Given the description of an element on the screen output the (x, y) to click on. 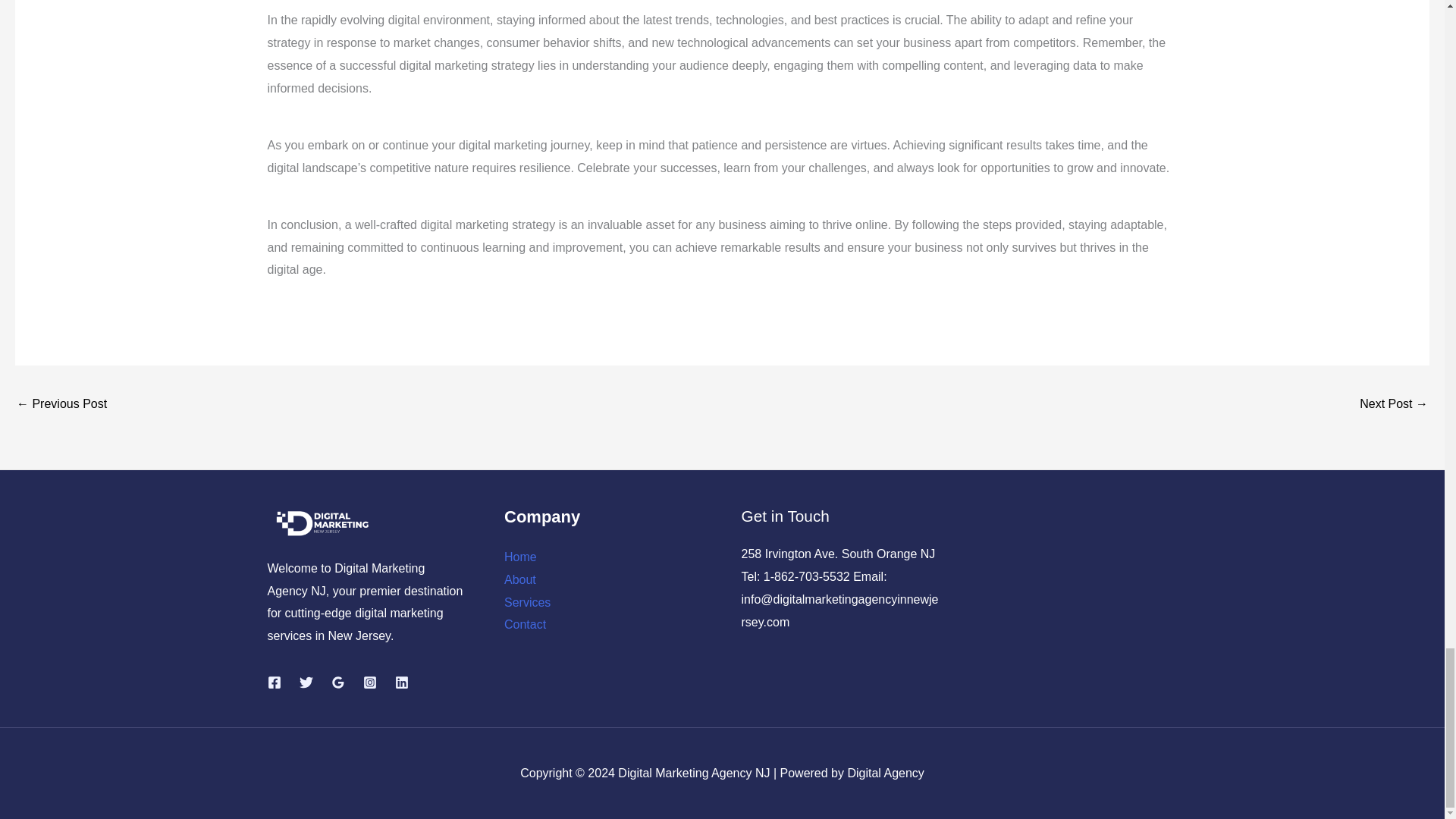
About (519, 579)
Home (520, 556)
Contact (524, 624)
8 Essential Digital Marketing Tips for Small Businesses (61, 405)
Services (526, 602)
